Given the description of an element on the screen output the (x, y) to click on. 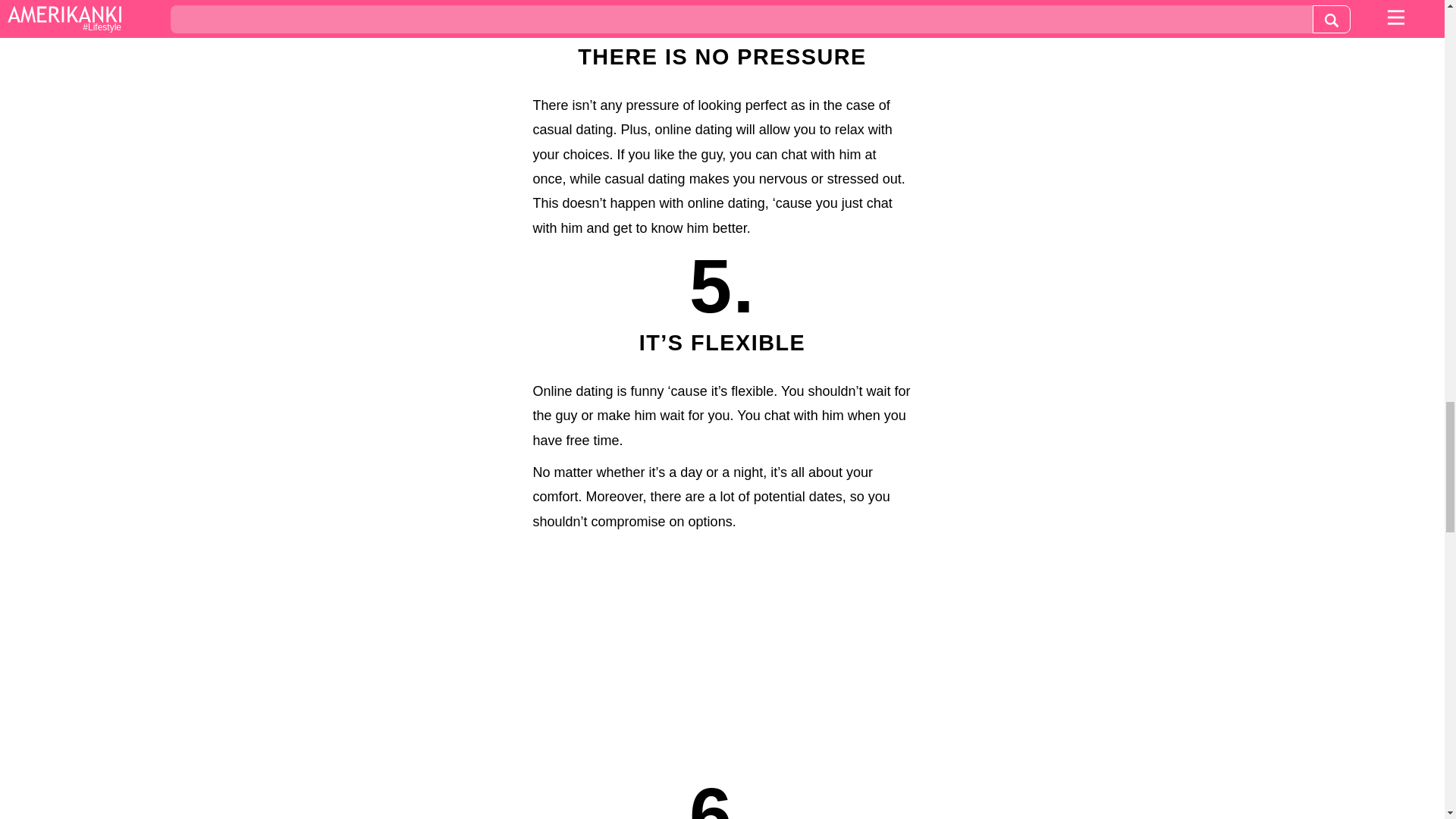
Advertisement (721, 654)
